Given the description of an element on the screen output the (x, y) to click on. 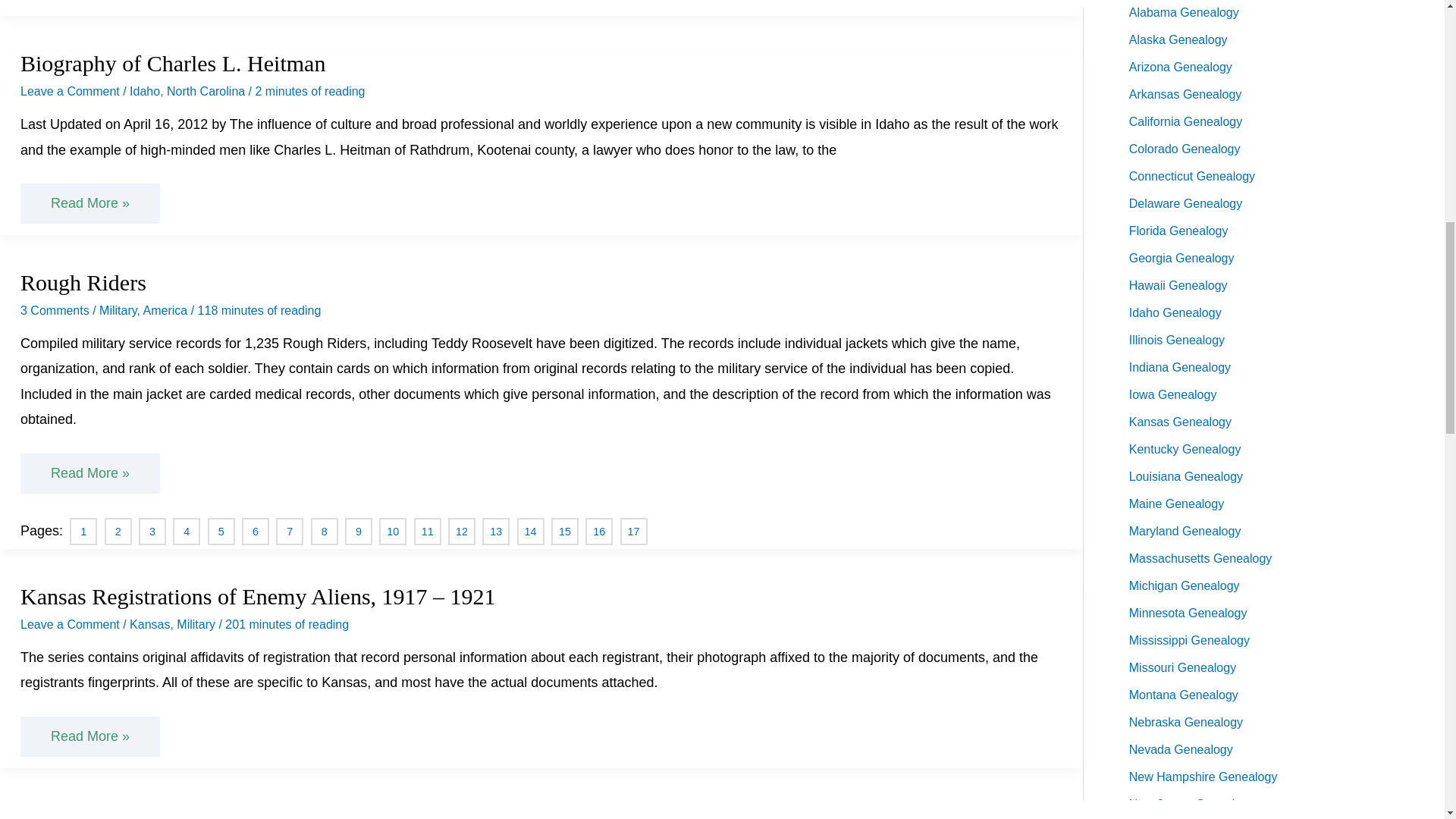
Arkansas Genealogy (1185, 93)
Rough Riders (83, 282)
2 (115, 532)
1 (81, 532)
3 Comments (54, 309)
Military (117, 309)
10 (390, 532)
12 (460, 532)
13 (494, 532)
3 (150, 532)
